Given the description of an element on the screen output the (x, y) to click on. 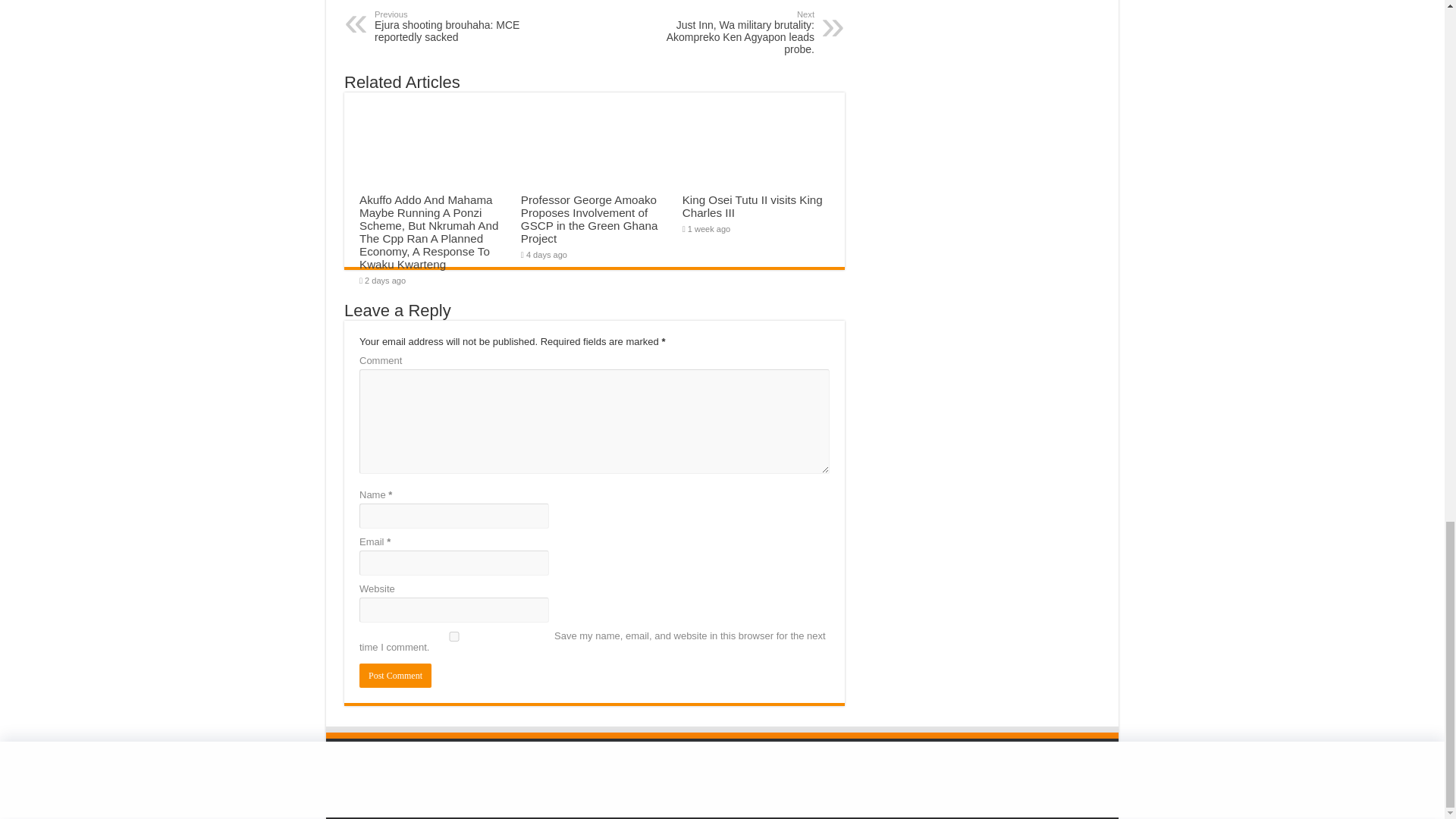
yes (453, 636)
Post Comment (394, 675)
